Given the description of an element on the screen output the (x, y) to click on. 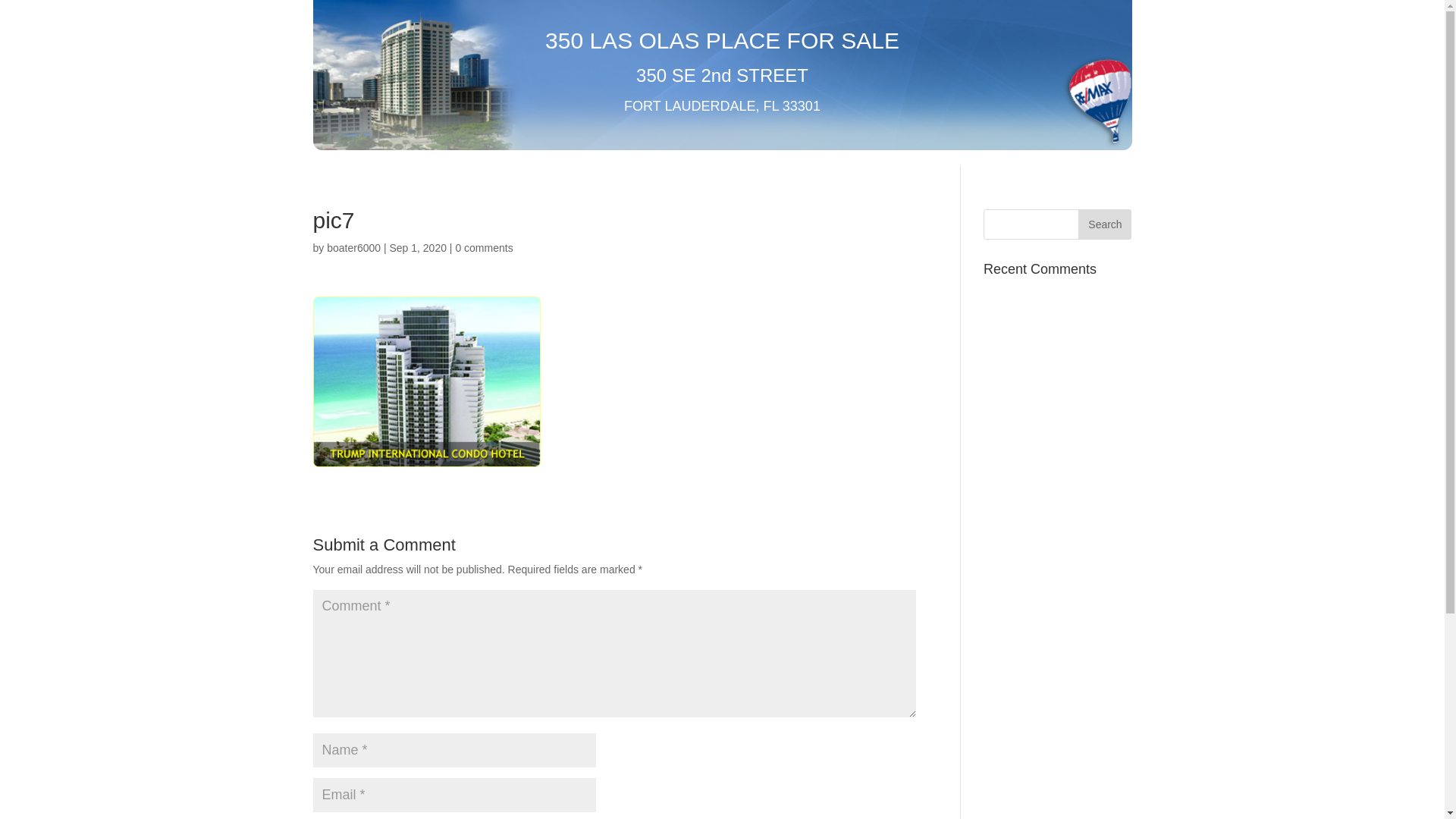
0 comments Element type: text (483, 247)
boater6000 Element type: text (353, 247)
Search Element type: text (1104, 224)
